Given the description of an element on the screen output the (x, y) to click on. 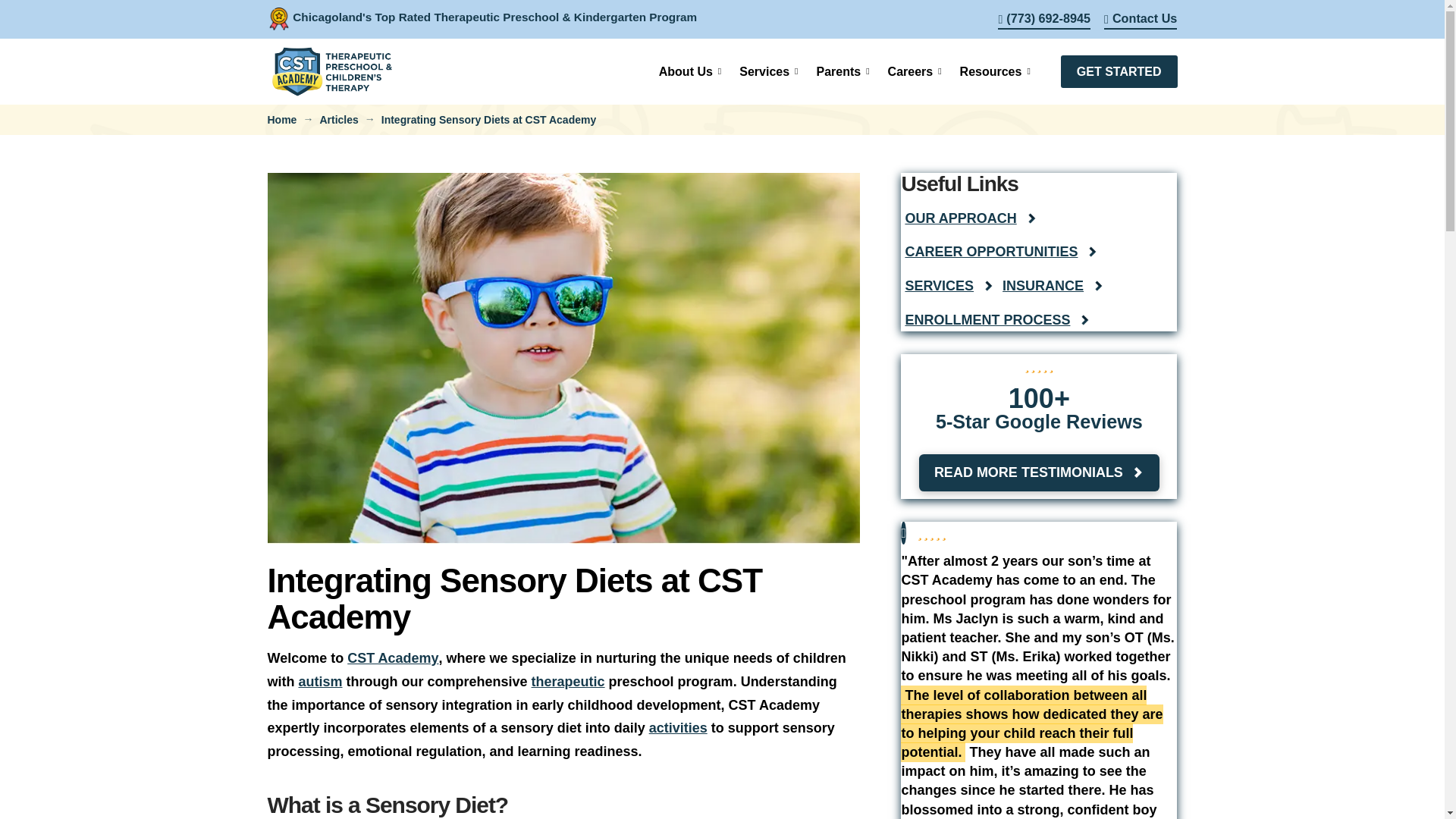
Services (768, 71)
Careers (914, 71)
GET STARTED (1119, 71)
You Are Here (488, 119)
Resources (994, 71)
About Us (689, 71)
Home (281, 119)
Parents (841, 71)
Contact Us (1139, 20)
